Given the description of an element on the screen output the (x, y) to click on. 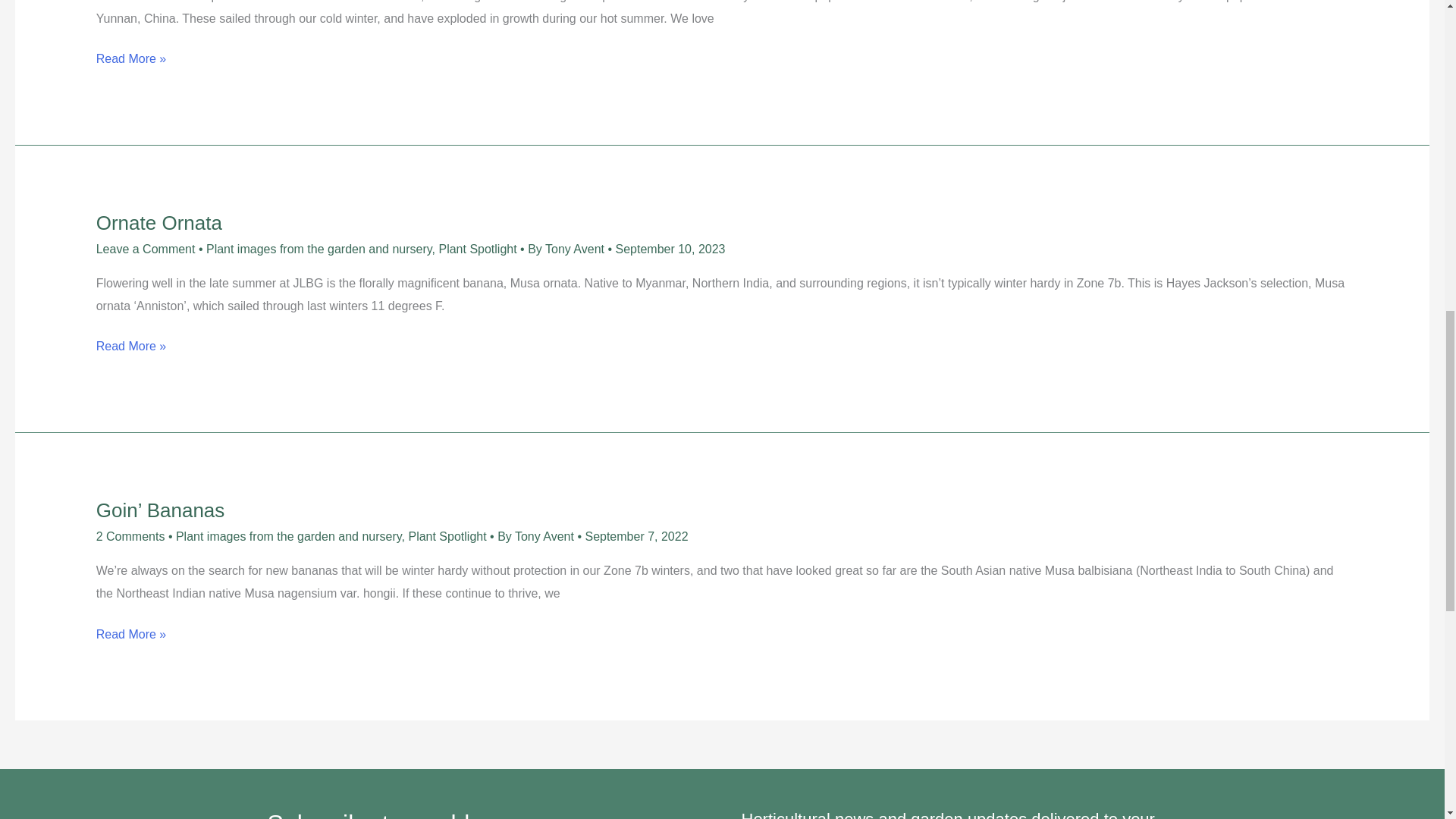
View all posts by Tony Avent (575, 248)
View all posts by Tony Avent (545, 535)
